Given the description of an element on the screen output the (x, y) to click on. 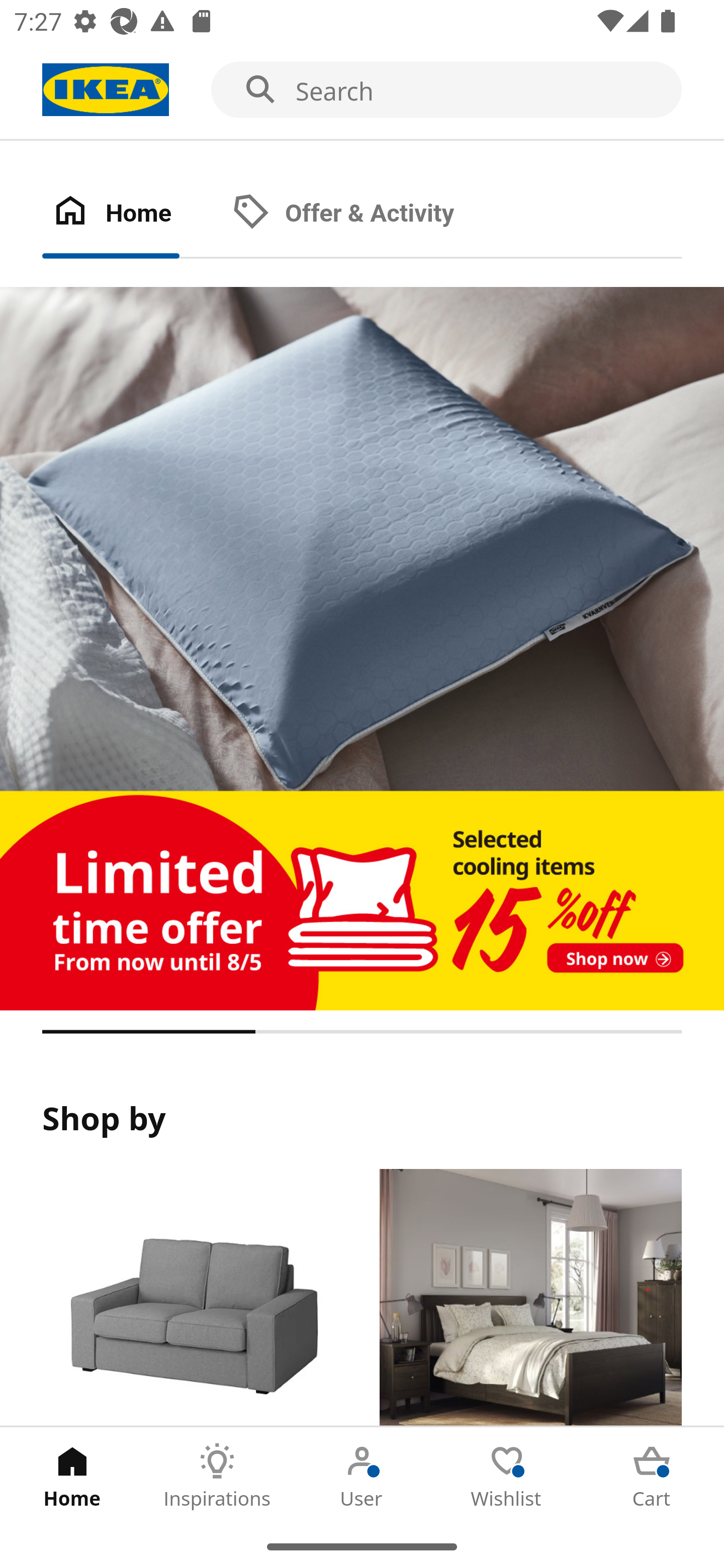
Search (361, 90)
Home
Tab 1 of 2 (131, 213)
Offer & Activity
Tab 2 of 2 (363, 213)
Products (192, 1297)
Rooms (530, 1297)
Home
Tab 1 of 5 (72, 1476)
Inspirations
Tab 2 of 5 (216, 1476)
User
Tab 3 of 5 (361, 1476)
Wishlist
Tab 4 of 5 (506, 1476)
Cart
Tab 5 of 5 (651, 1476)
